Given the description of an element on the screen output the (x, y) to click on. 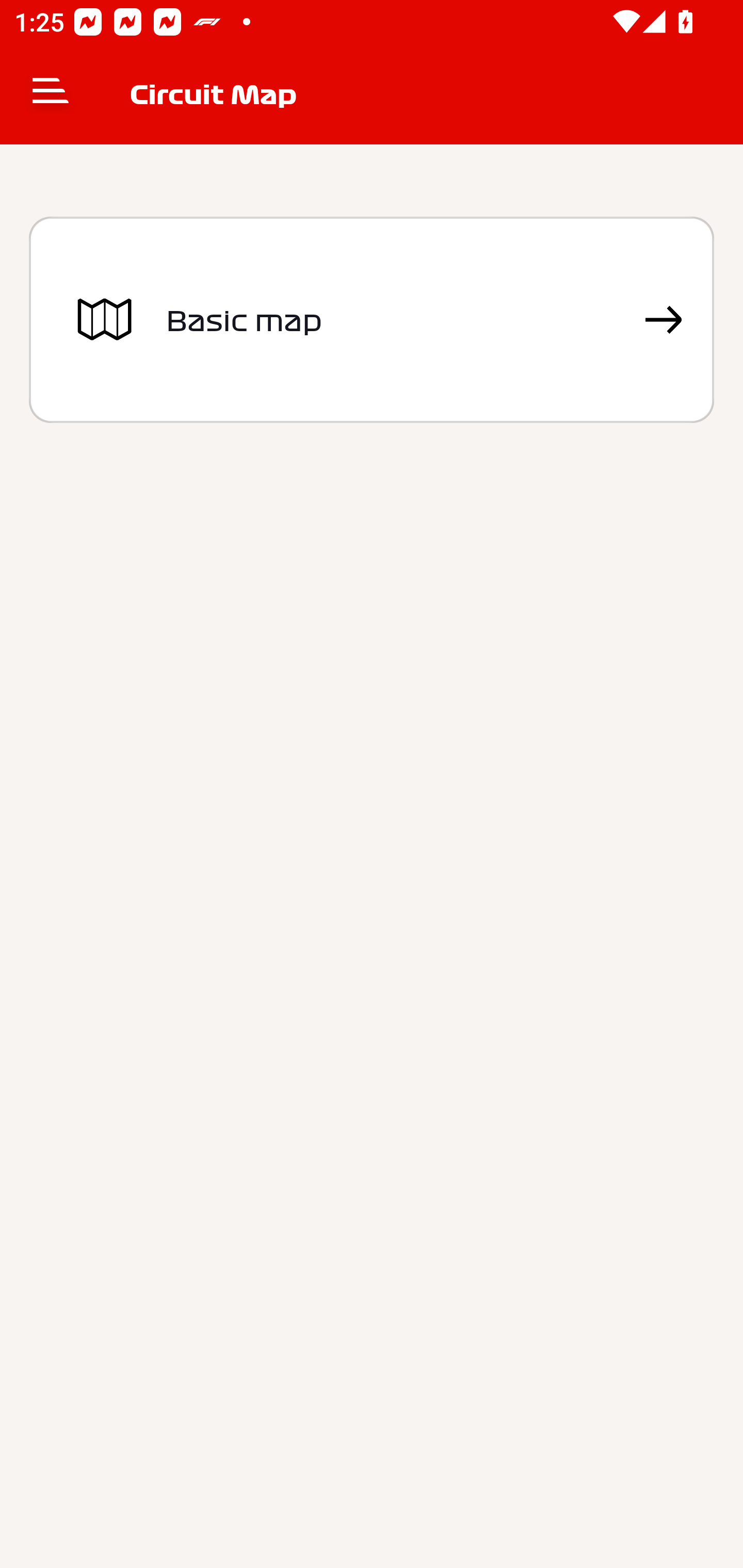
Navigate up (50, 93)
Basic map (371, 319)
